Given the description of an element on the screen output the (x, y) to click on. 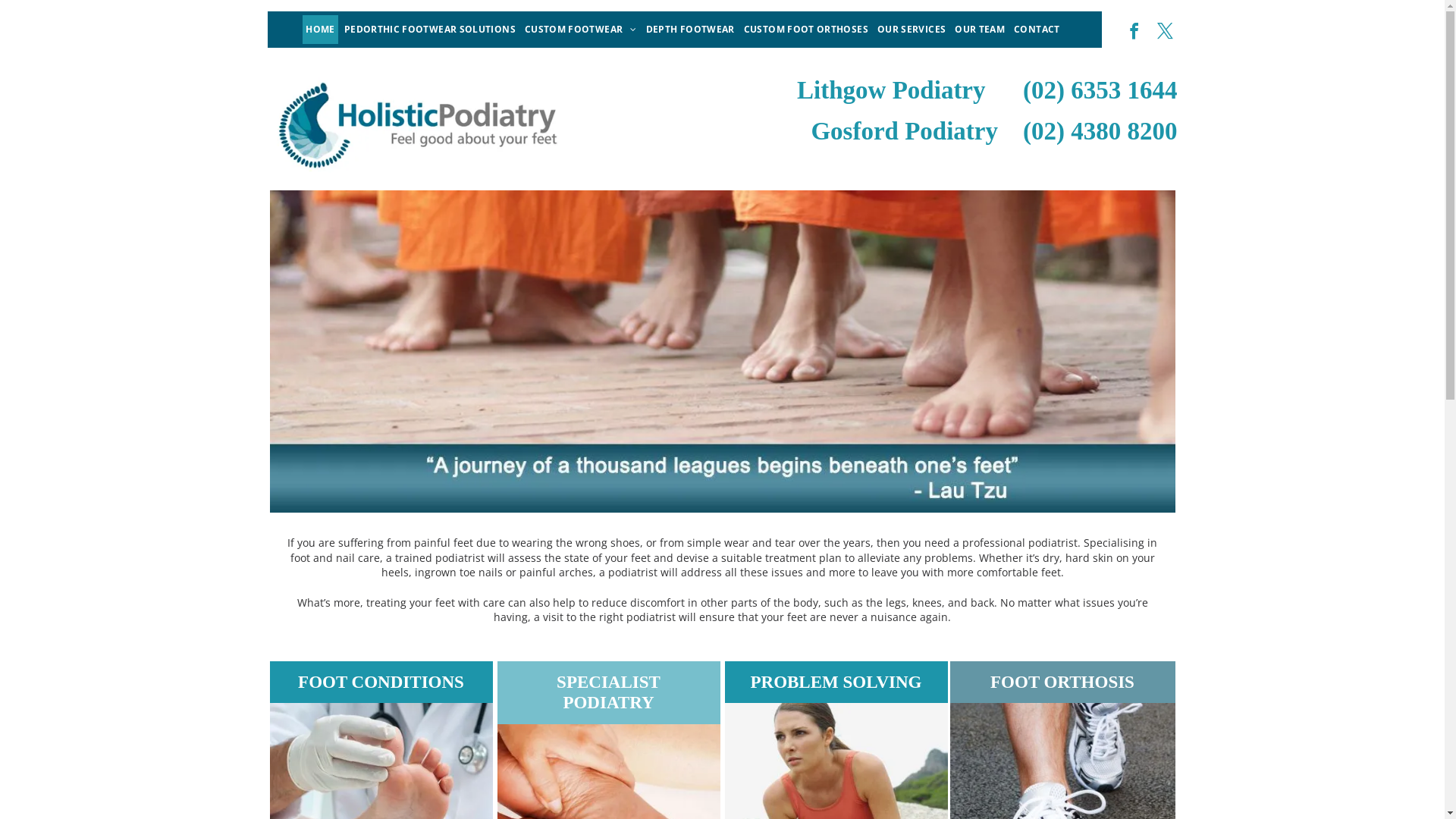
4380 8200 Element type: text (1123, 130)
Gosford Podiatry Element type: text (903, 130)
CONTACT Element type: text (1036, 29)
CUSTOM FOOTWEAR Element type: text (580, 29)
Lithgow Podiatry Element type: text (891, 89)
OUR SERVICES Element type: text (911, 29)
(02) 6353 1644 Element type: text (1099, 89)
OUR TEAM Element type: text (979, 29)
HOME Element type: text (319, 29)
PEDORTHIC FOOTWEAR SOLUTIONS Element type: text (429, 29)
FOOT CONDITIONS Element type: text (381, 681)
FOOT ORTHOSIS Element type: text (1062, 681)
    Element type: text (1006, 130)
DEPTH FOOTWEAR Element type: text (690, 29)
CUSTOM FOOT ORTHOSES Element type: text (805, 29)
